Given the description of an element on the screen output the (x, y) to click on. 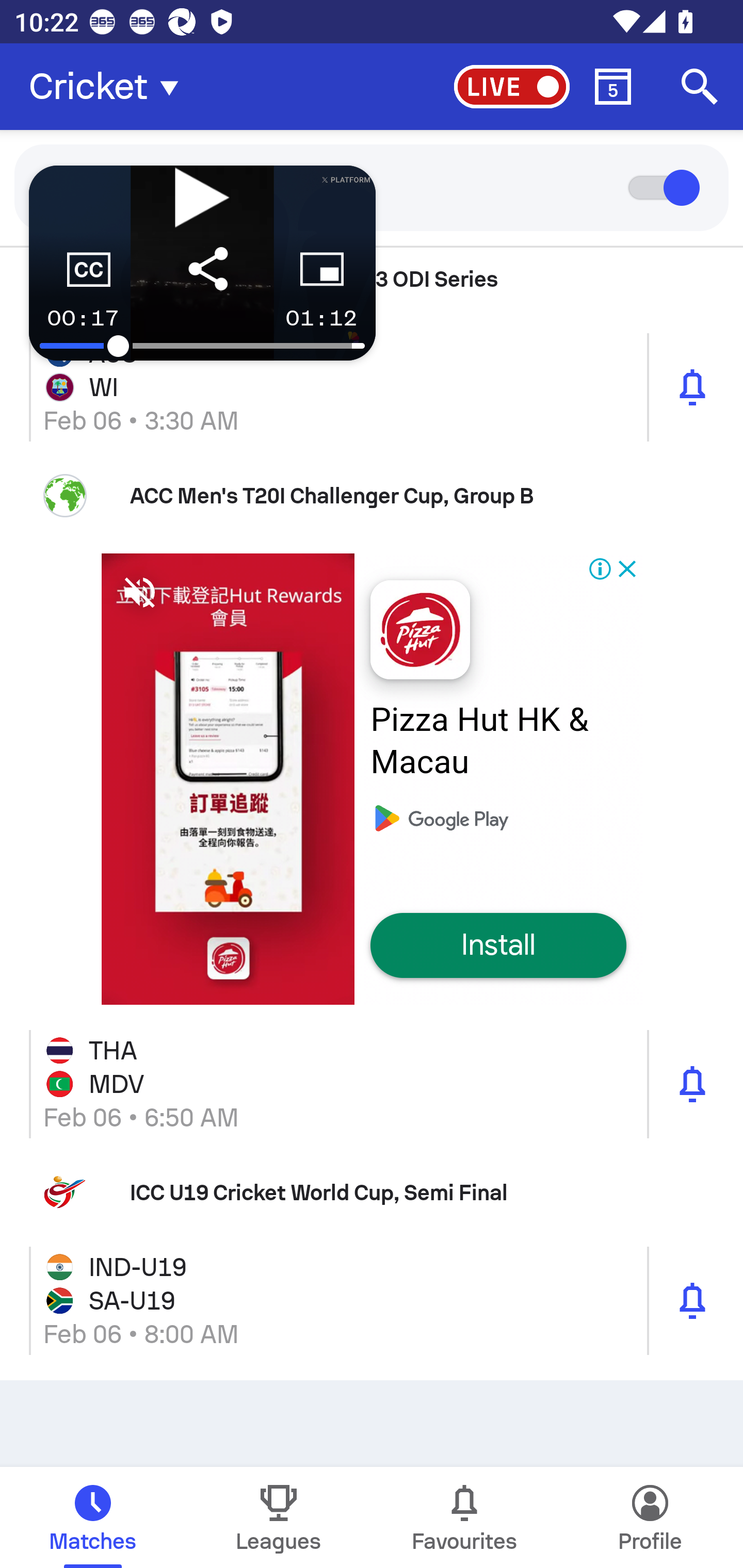
Cricket (109, 86)
Calendar (612, 86)
Search (699, 86)
ACC Men's T20I Challenger Cup, Group B (371, 495)
Pizza Hut HK &
Macau Install Install (371, 779)
Install (498, 946)
THA MDV Feb 06 • 6:50 AM (371, 1084)
ICC U19 Cricket World Cup, Semi Final (371, 1192)
IND-U19 SA-U19 Feb 06 • 8:00 AM (371, 1300)
Leagues (278, 1517)
Favourites (464, 1517)
Profile (650, 1517)
